Given the description of an element on the screen output the (x, y) to click on. 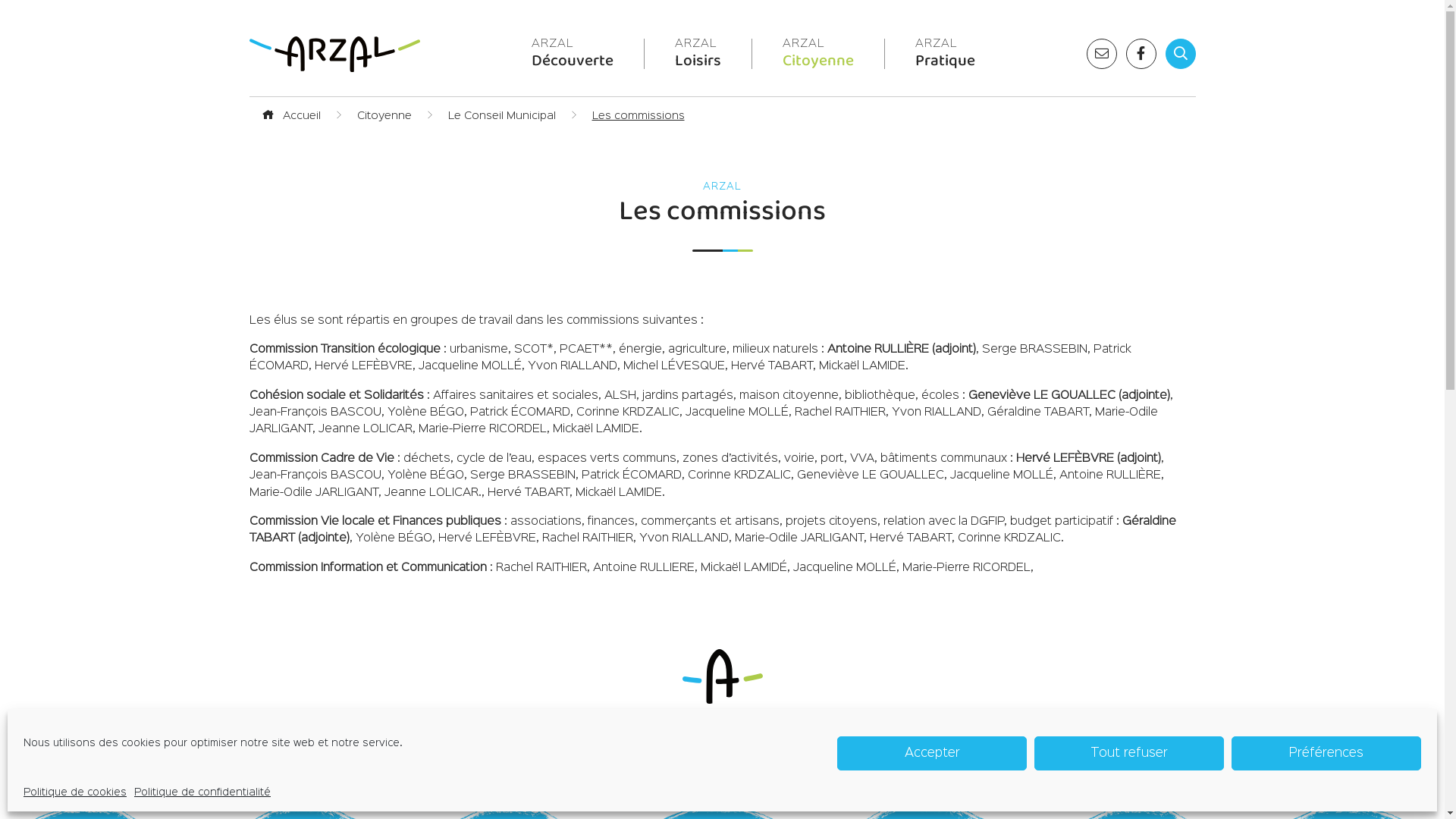
Pratique Element type: text (944, 55)
Accueil Element type: text (290, 115)
Citoyenne Element type: text (383, 115)
Loisirs Element type: text (697, 55)
Facebook Mairie d'Arzal Element type: hover (1140, 53)
Le Conseil Municipal Element type: text (501, 115)
Citoyenne Element type: text (817, 55)
Accepter Element type: text (931, 753)
Newsletter Element type: hover (1100, 53)
Politique de cookies Element type: text (74, 792)
Tout refuser Element type: text (1128, 753)
